Given the description of an element on the screen output the (x, y) to click on. 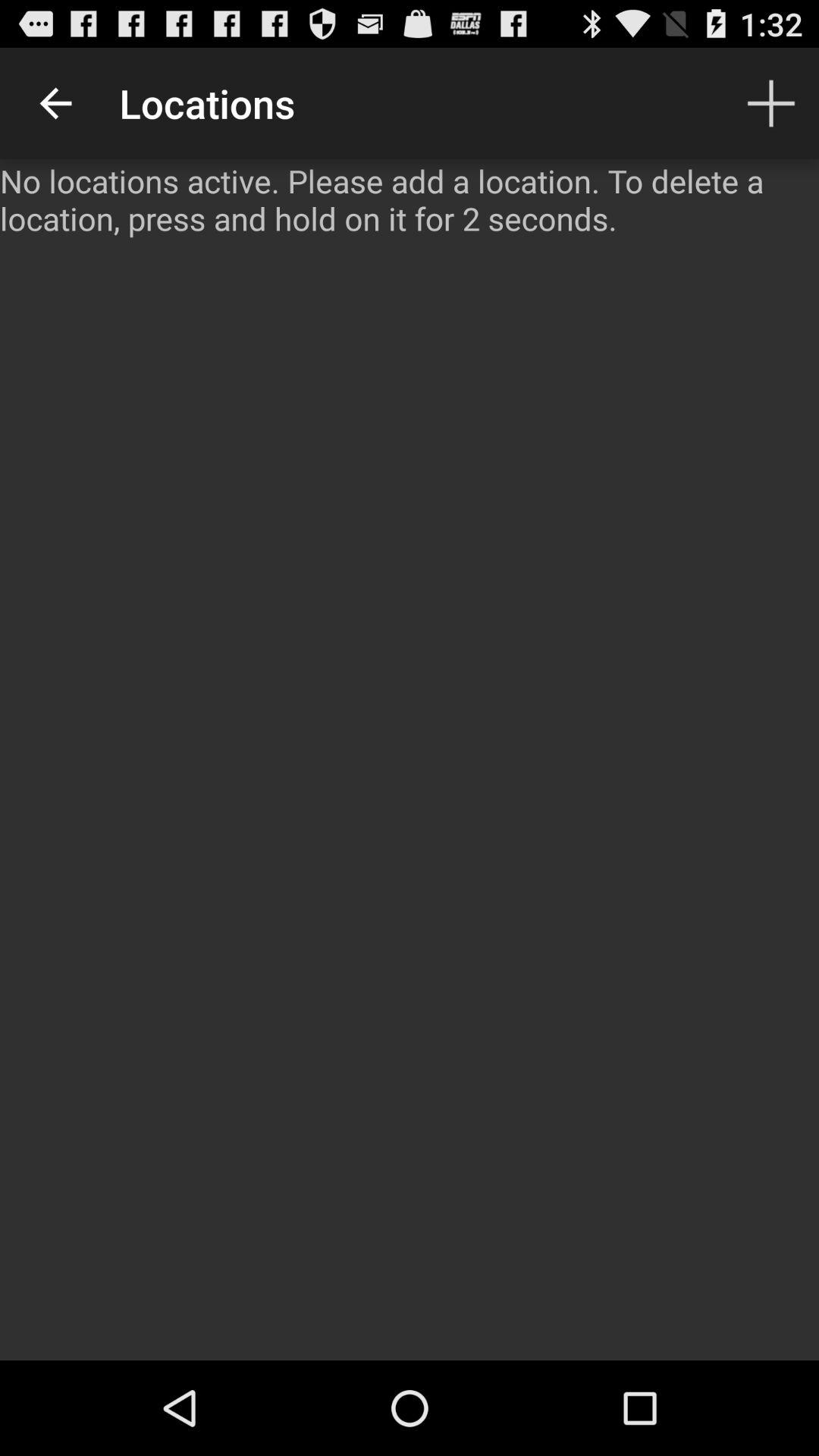
tap the item to the left of locations (55, 103)
